Given the description of an element on the screen output the (x, y) to click on. 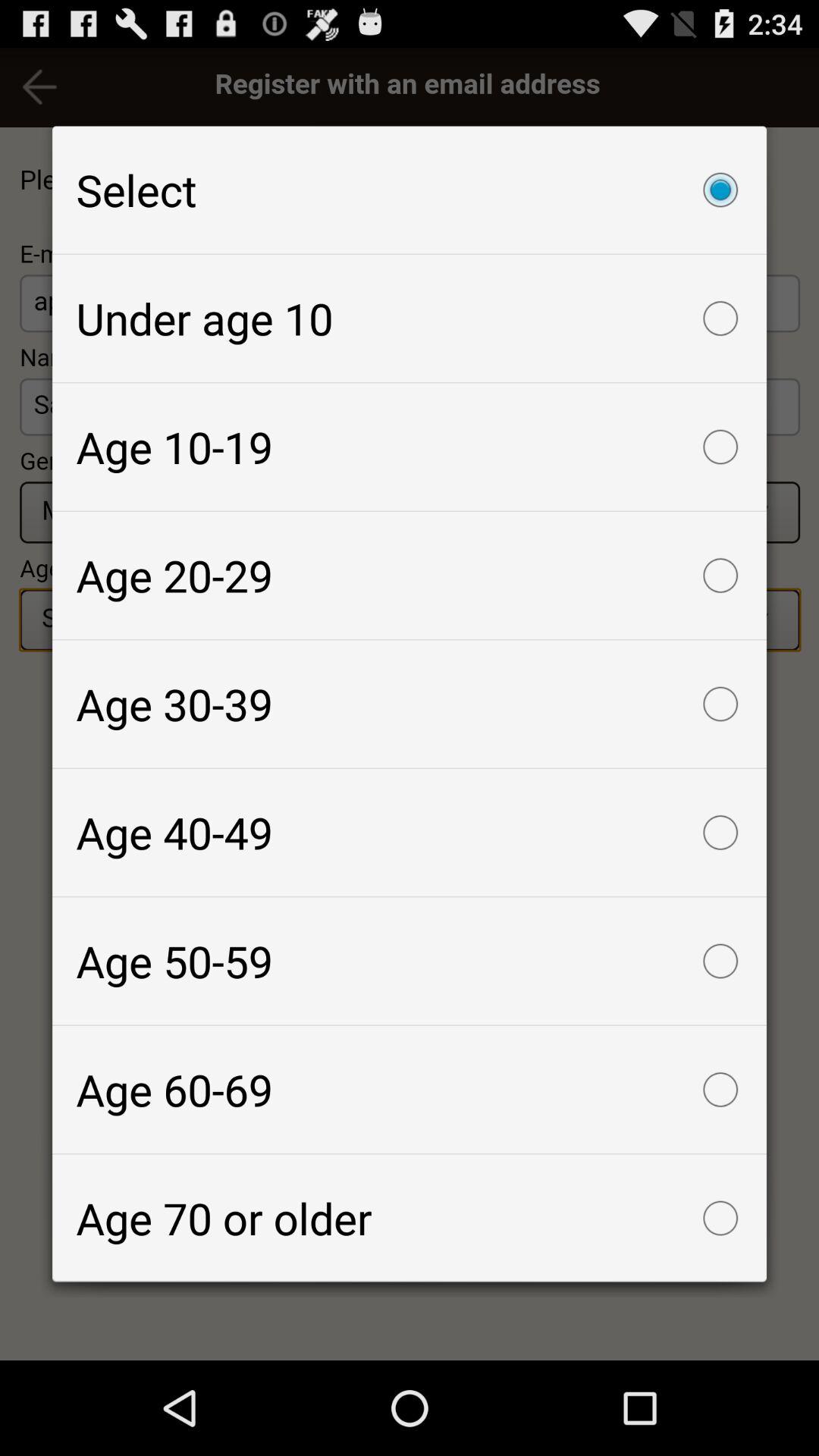
flip to select item (409, 189)
